Given the description of an element on the screen output the (x, y) to click on. 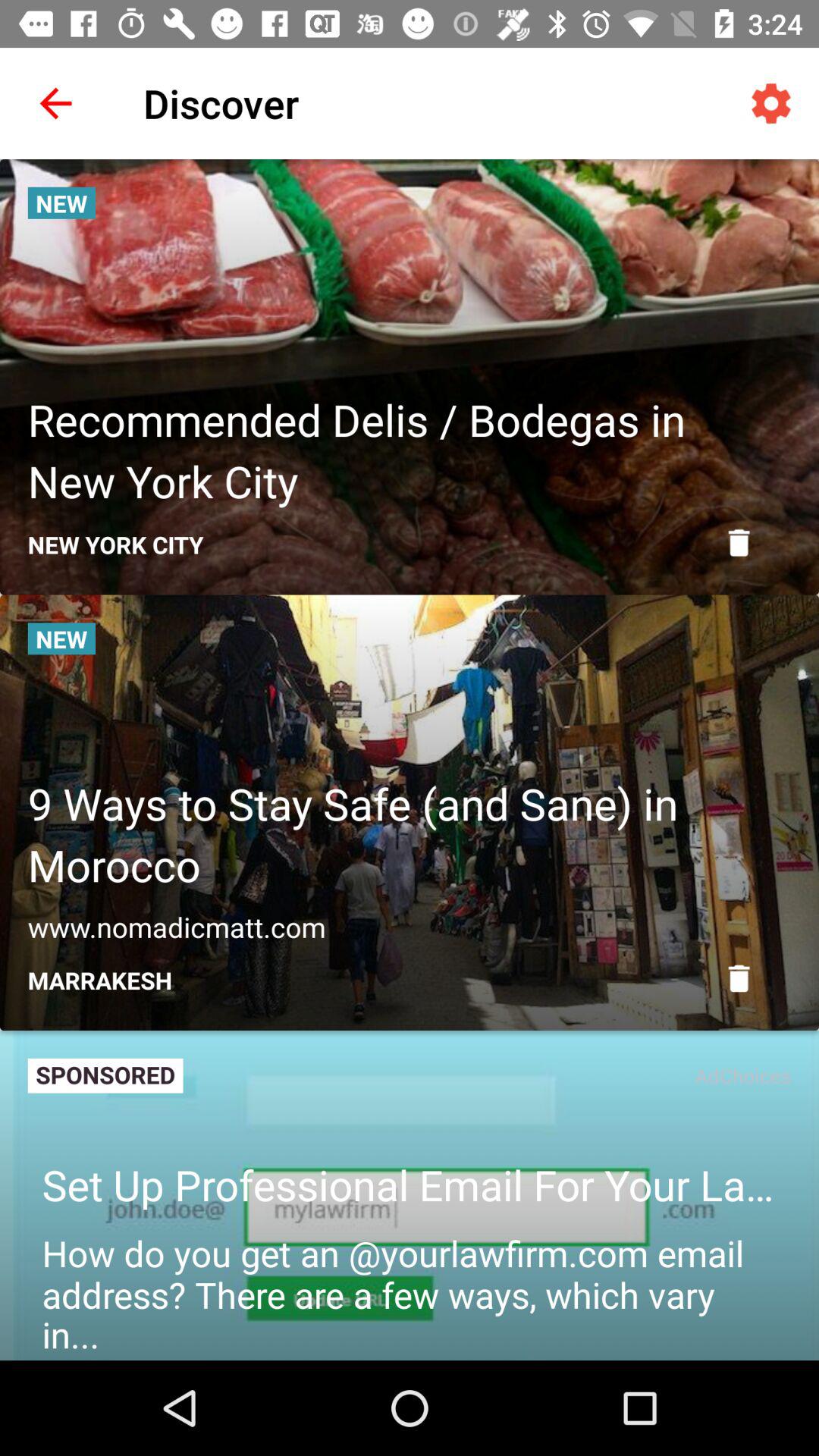
select the item next to discover item (55, 103)
